Given the description of an element on the screen output the (x, y) to click on. 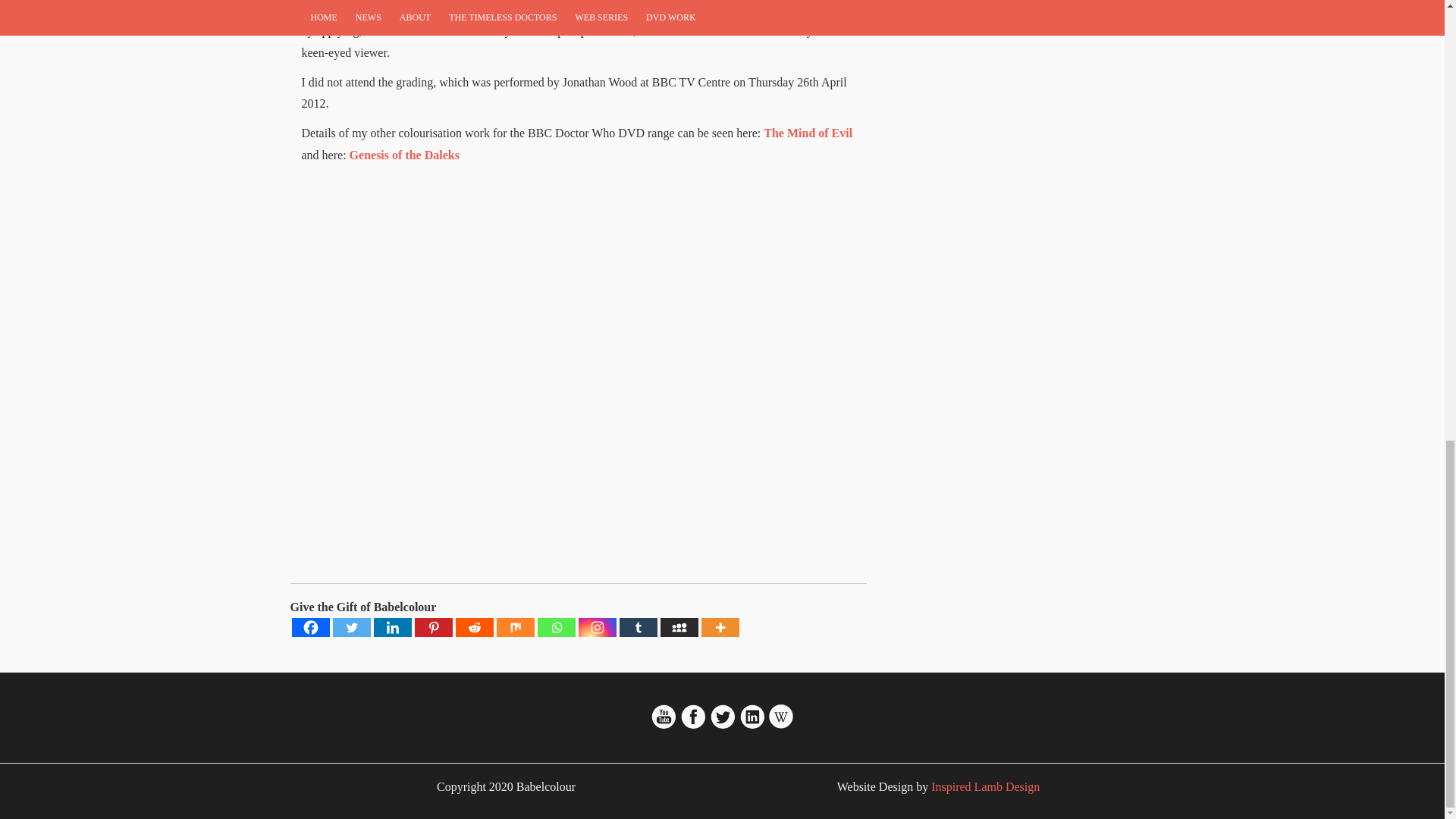
Genesis of the Daleks (404, 154)
LinkedIn (752, 725)
Whatsapp (556, 627)
Babelcolour on YouTube (664, 725)
Instagram (596, 627)
Babelcolour on Facebook (692, 725)
Twitter (350, 627)
Linkedin (391, 627)
Pinterest (432, 627)
Facebook (310, 627)
Wikipedia (780, 725)
Tumblr (637, 627)
Reddit (473, 627)
Mix (515, 627)
